Given the description of an element on the screen output the (x, y) to click on. 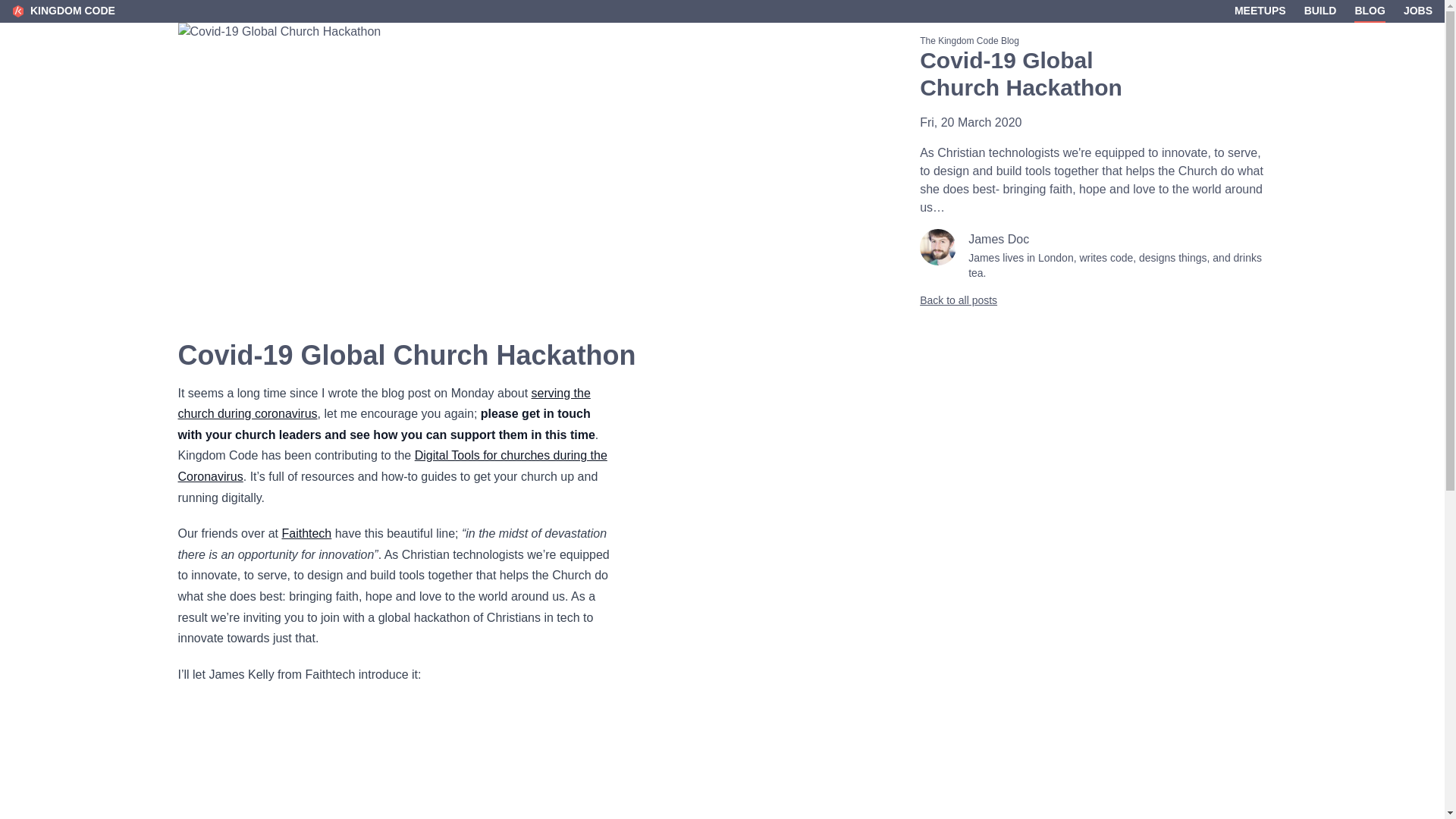
Digital Tools for churches during the Coronavirus (392, 465)
The Kingdom Code Blog (1093, 40)
JOBS (1417, 11)
BLOG (1369, 11)
serving the church during coronavirus (383, 403)
BUILD (1320, 11)
MEETUPS (1259, 11)
Back to all posts (1093, 299)
James Doc (998, 238)
Faithtech (306, 533)
